Given the description of an element on the screen output the (x, y) to click on. 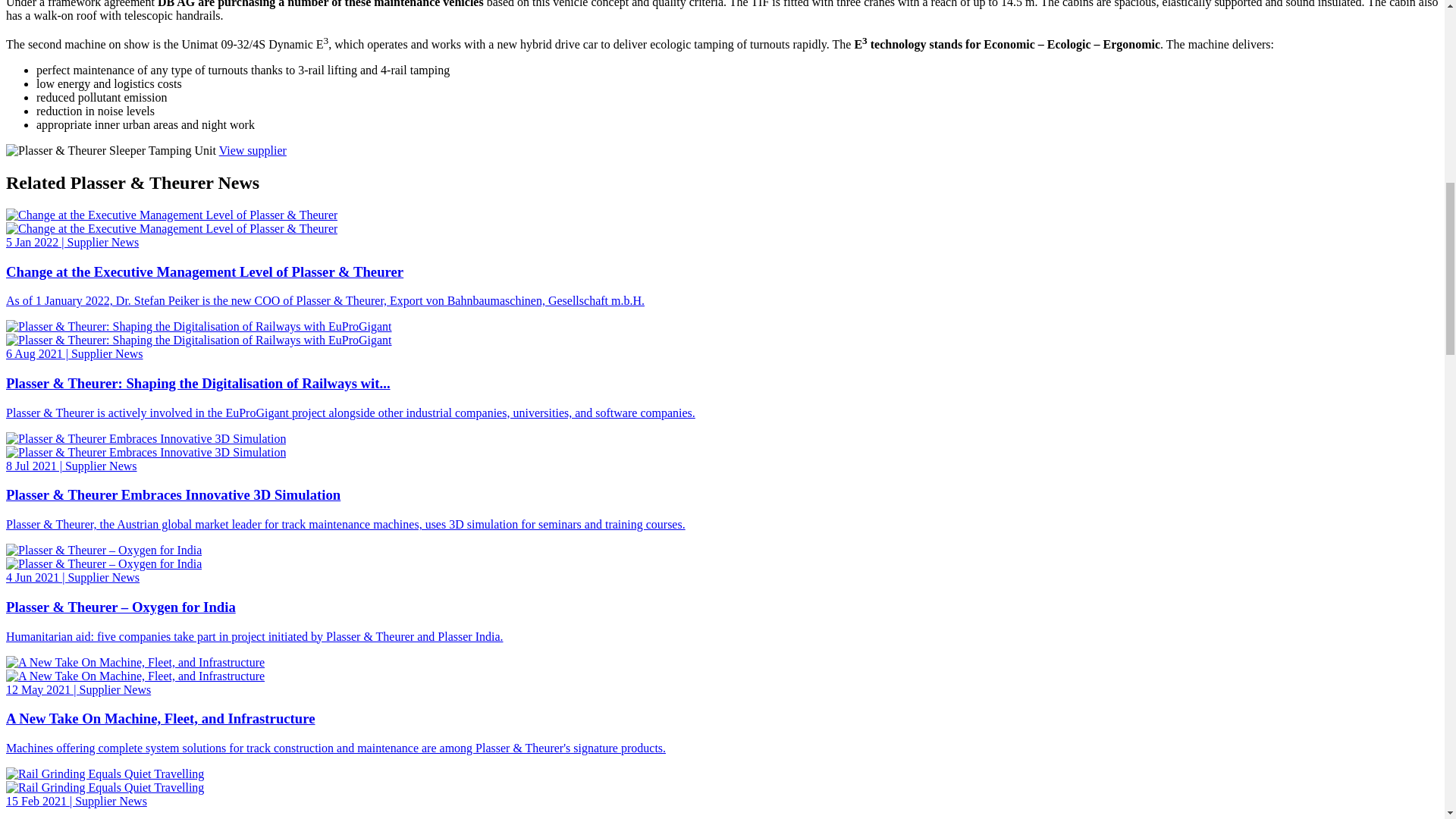
View supplier (252, 150)
